Given the description of an element on the screen output the (x, y) to click on. 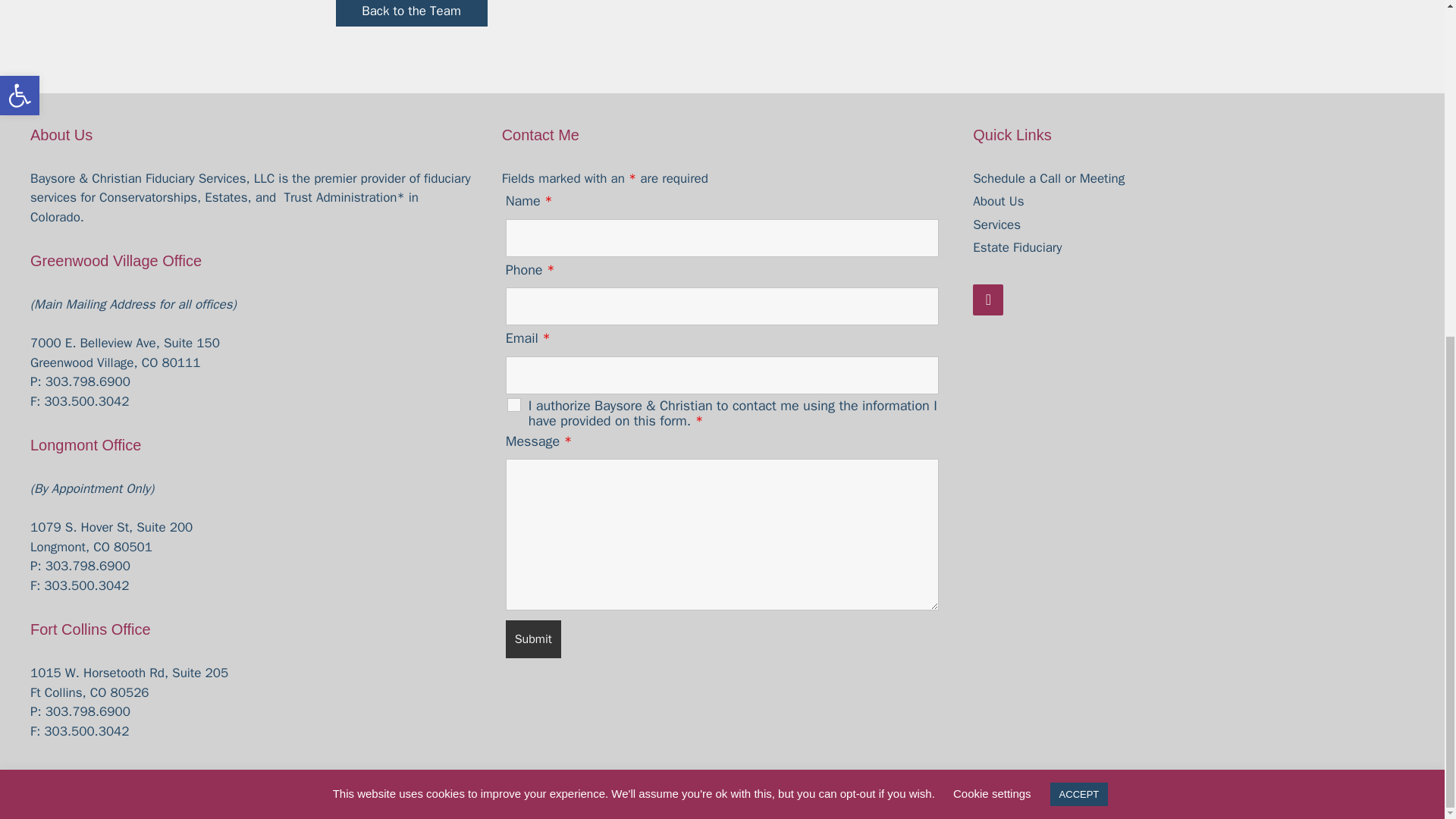
Cookie settings (991, 227)
Schedule a Call or Meeting (1048, 178)
Submit (532, 638)
LinkedIn (987, 299)
Back to the Team (410, 13)
Estate Fiduciary (1016, 247)
Submit (532, 638)
About Us (997, 201)
Services (996, 224)
ACCEPT (1078, 228)
